Given the description of an element on the screen output the (x, y) to click on. 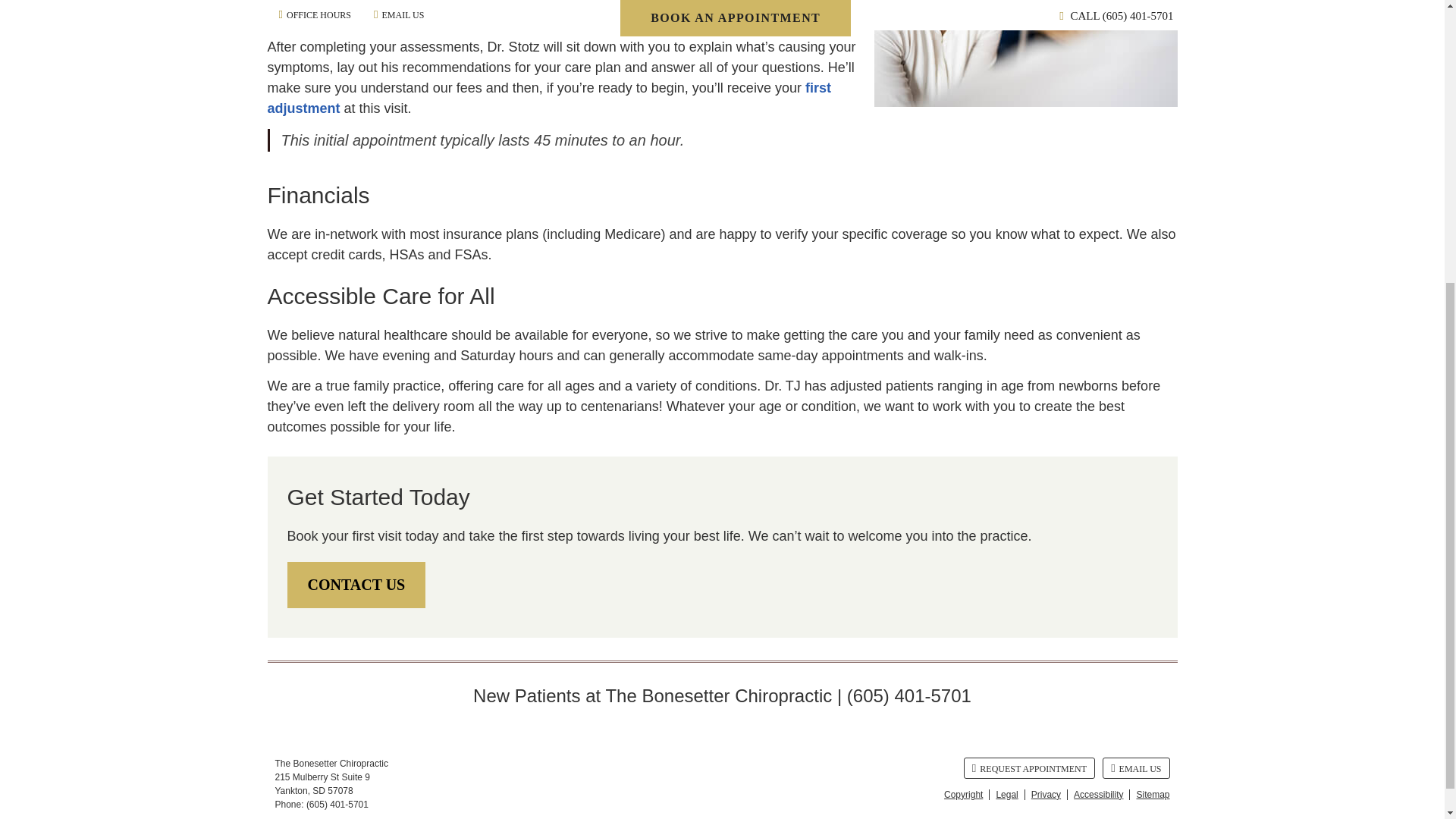
Legal (1007, 794)
REQUEST APPOINTMENT (1028, 767)
Contact (1135, 767)
Copyright (963, 794)
Accessibility (1098, 794)
Privacy (1046, 794)
EMAIL US (1135, 767)
CONTACT US (355, 584)
Footer Links (1053, 793)
Sitemap (1149, 794)
